Given the description of an element on the screen output the (x, y) to click on. 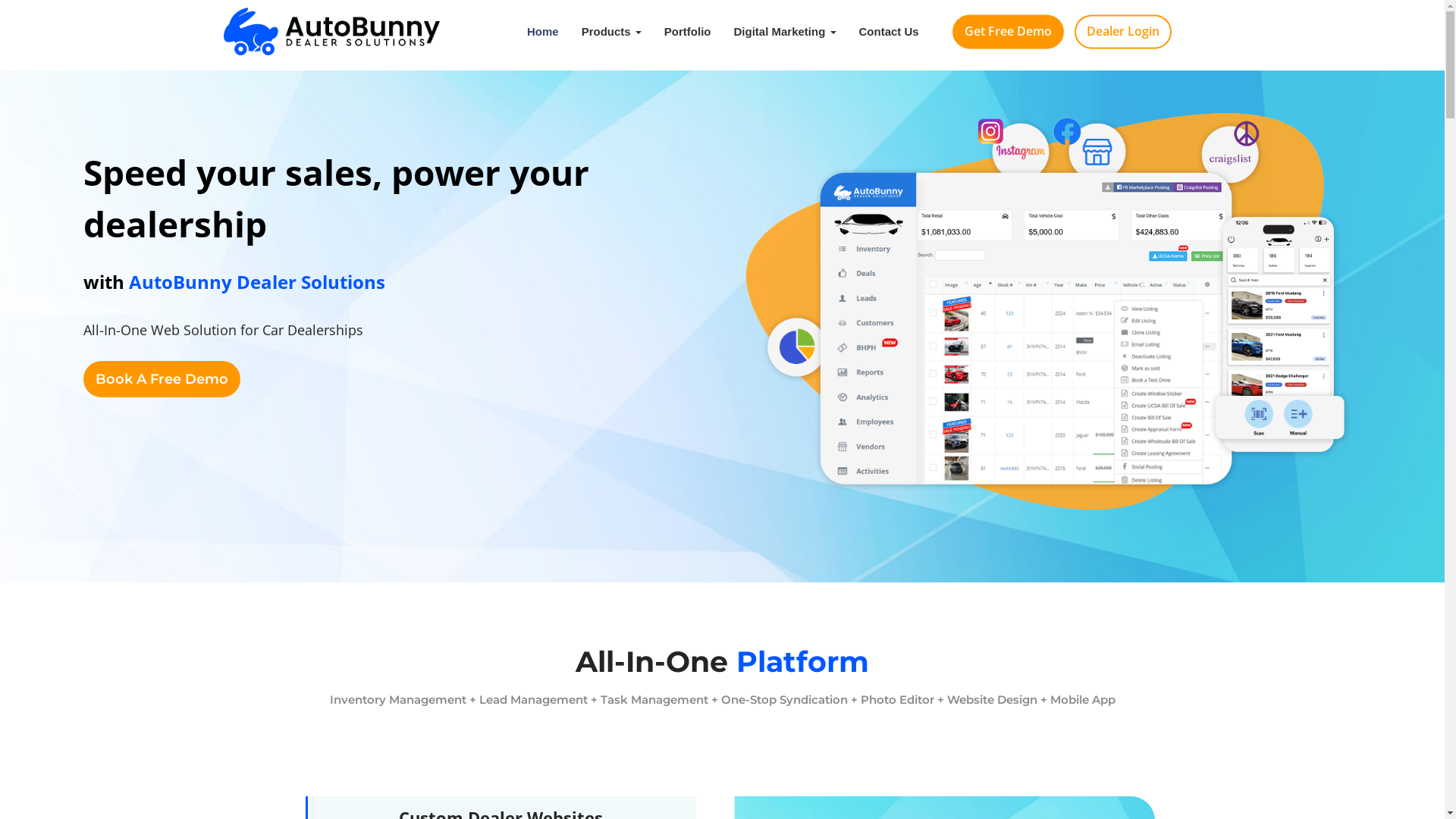
Home Element type: text (542, 31)
Products Element type: text (611, 31)
Digital Marketing Element type: text (784, 31)
Book A Free Demo Element type: text (161, 379)
Contact Us Element type: text (888, 31)
Get Free Demo Element type: text (1007, 31)
Dealer Login Element type: text (1122, 31)
Portfolio Element type: text (687, 31)
